Given the description of an element on the screen output the (x, y) to click on. 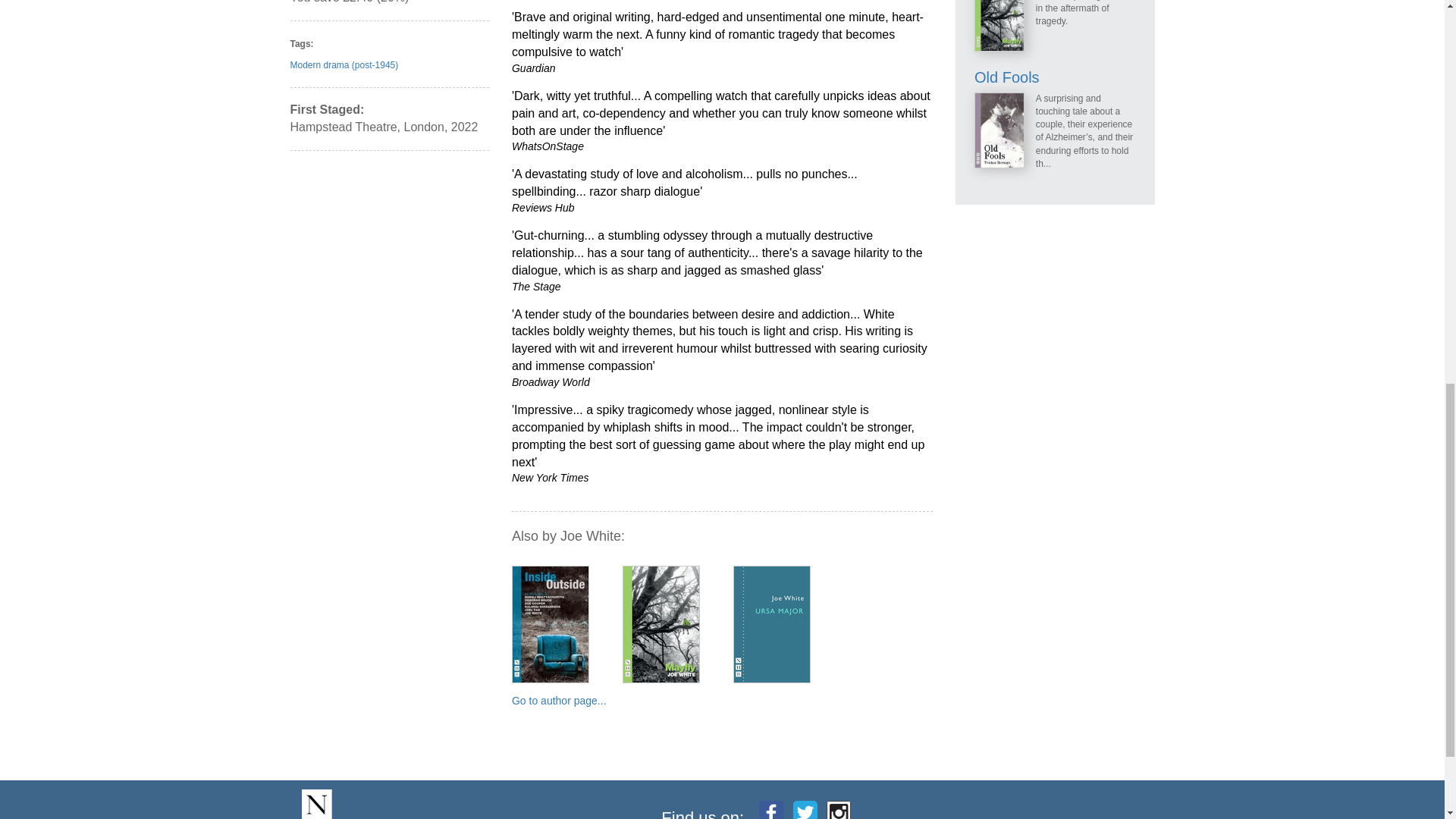
Facebook page (770, 809)
Instagram page (838, 809)
Twitter page (804, 809)
